Given the description of an element on the screen output the (x, y) to click on. 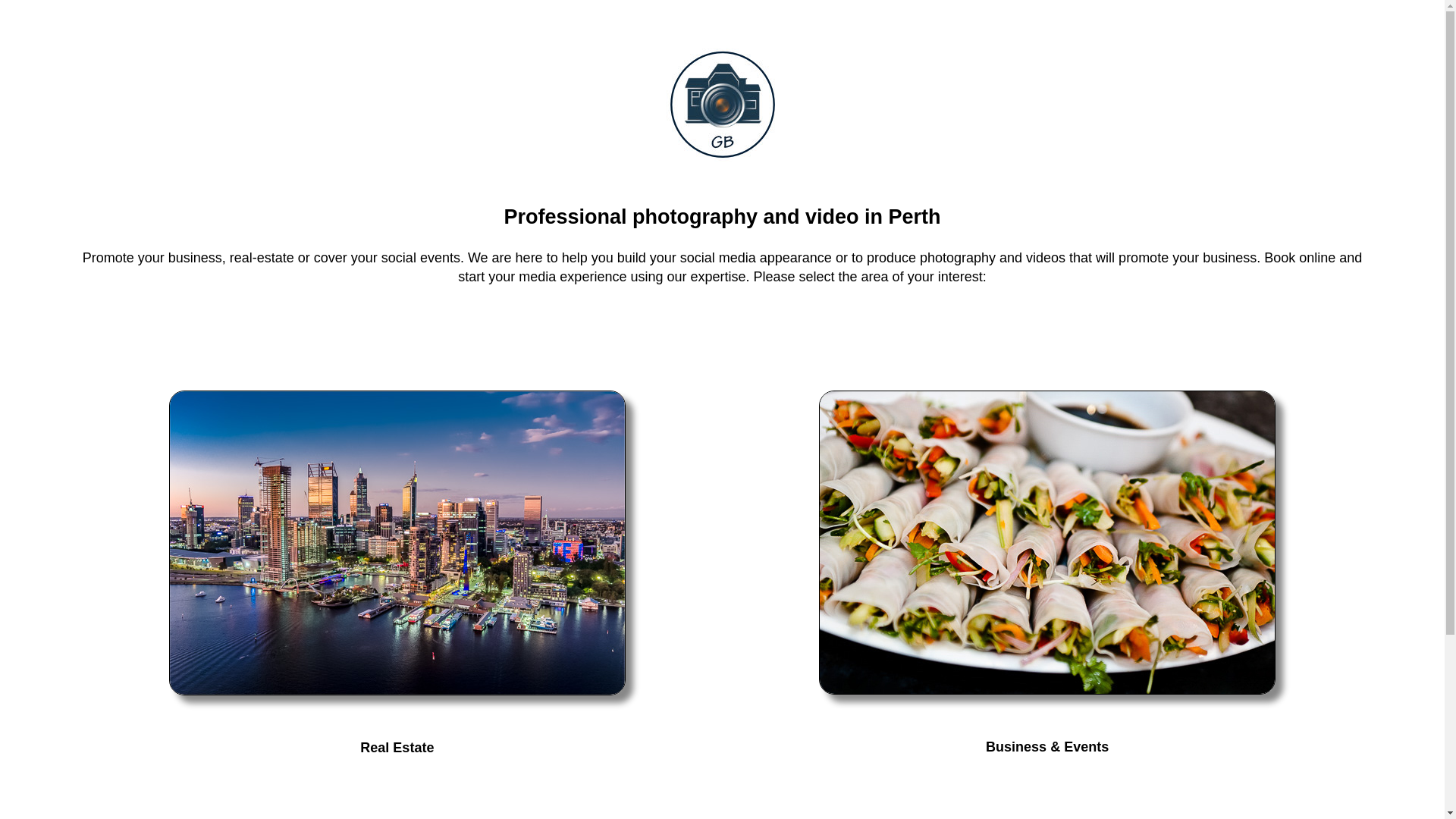
Business and Event professional photography and video Element type: hover (1047, 542)
Real Estate professional photography and video Element type: hover (397, 542)
